Given the description of an element on the screen output the (x, y) to click on. 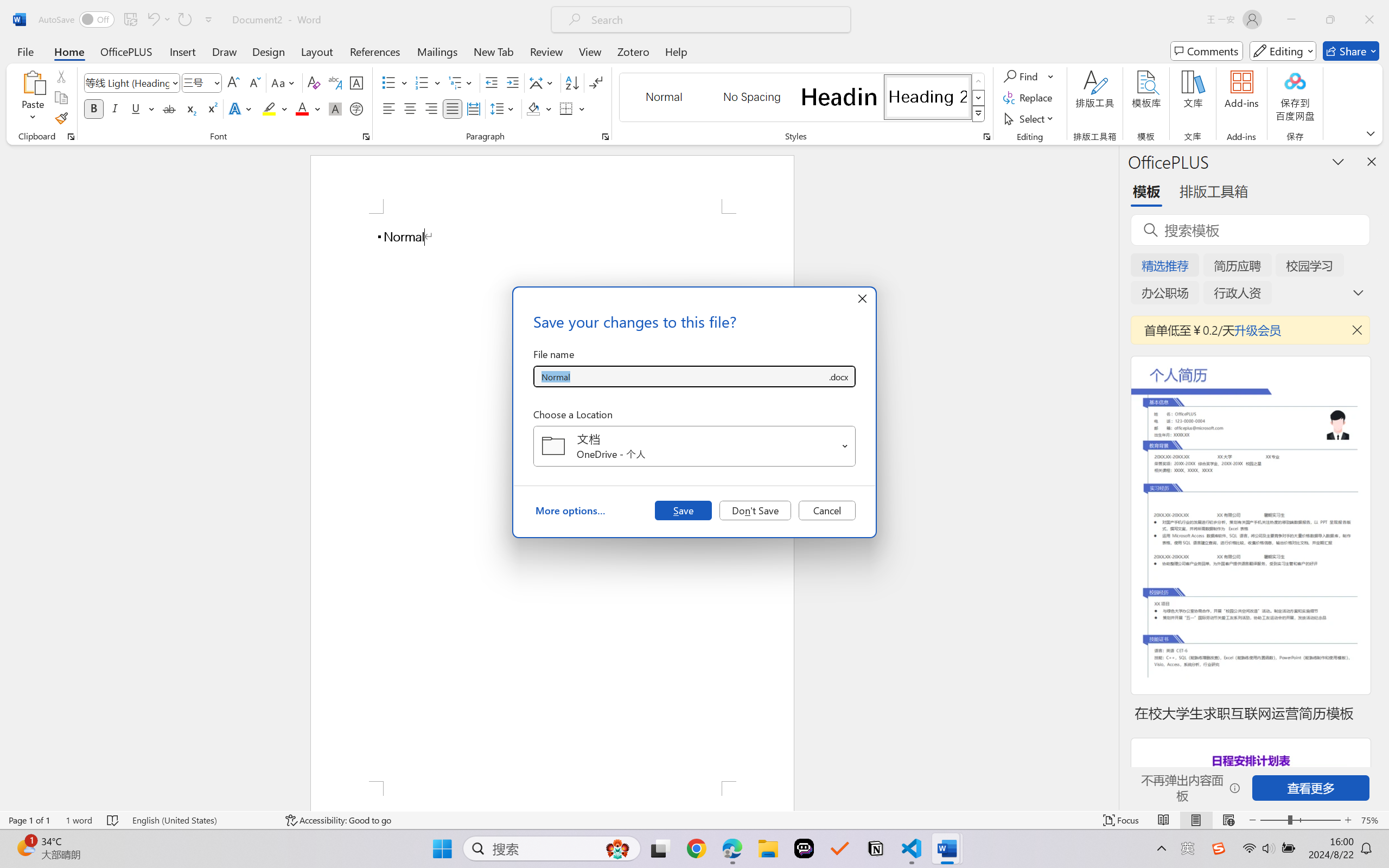
Accessibility Checker Accessibility: Good to go (338, 819)
Zoom (1300, 819)
Mailings (437, 51)
Styles (978, 113)
Heading 2 (927, 96)
Cut (60, 75)
Row Down (978, 97)
Shading RGB(0, 0, 0) (533, 108)
